Given the description of an element on the screen output the (x, y) to click on. 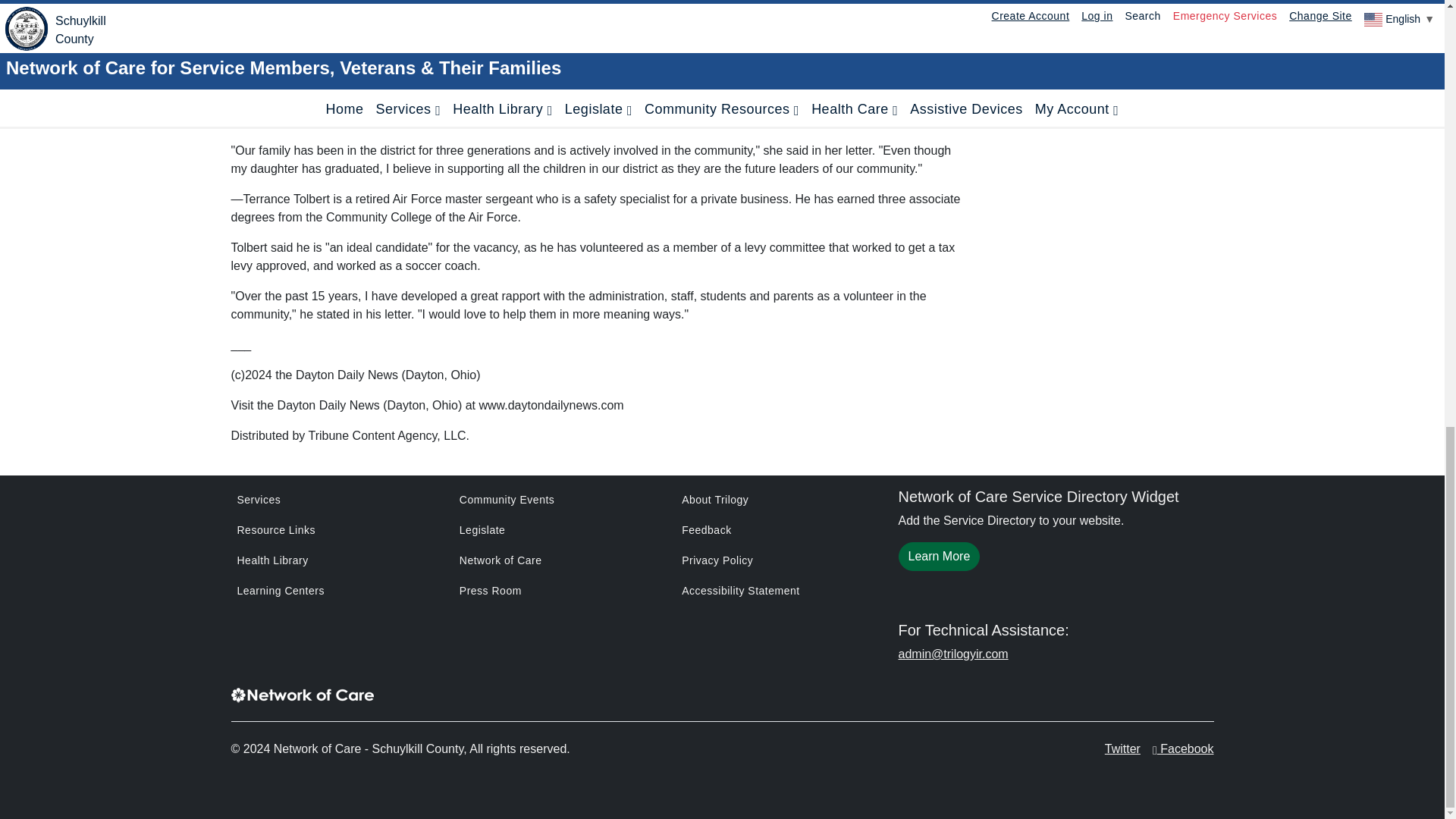
facebook (1155, 748)
